Given the description of an element on the screen output the (x, y) to click on. 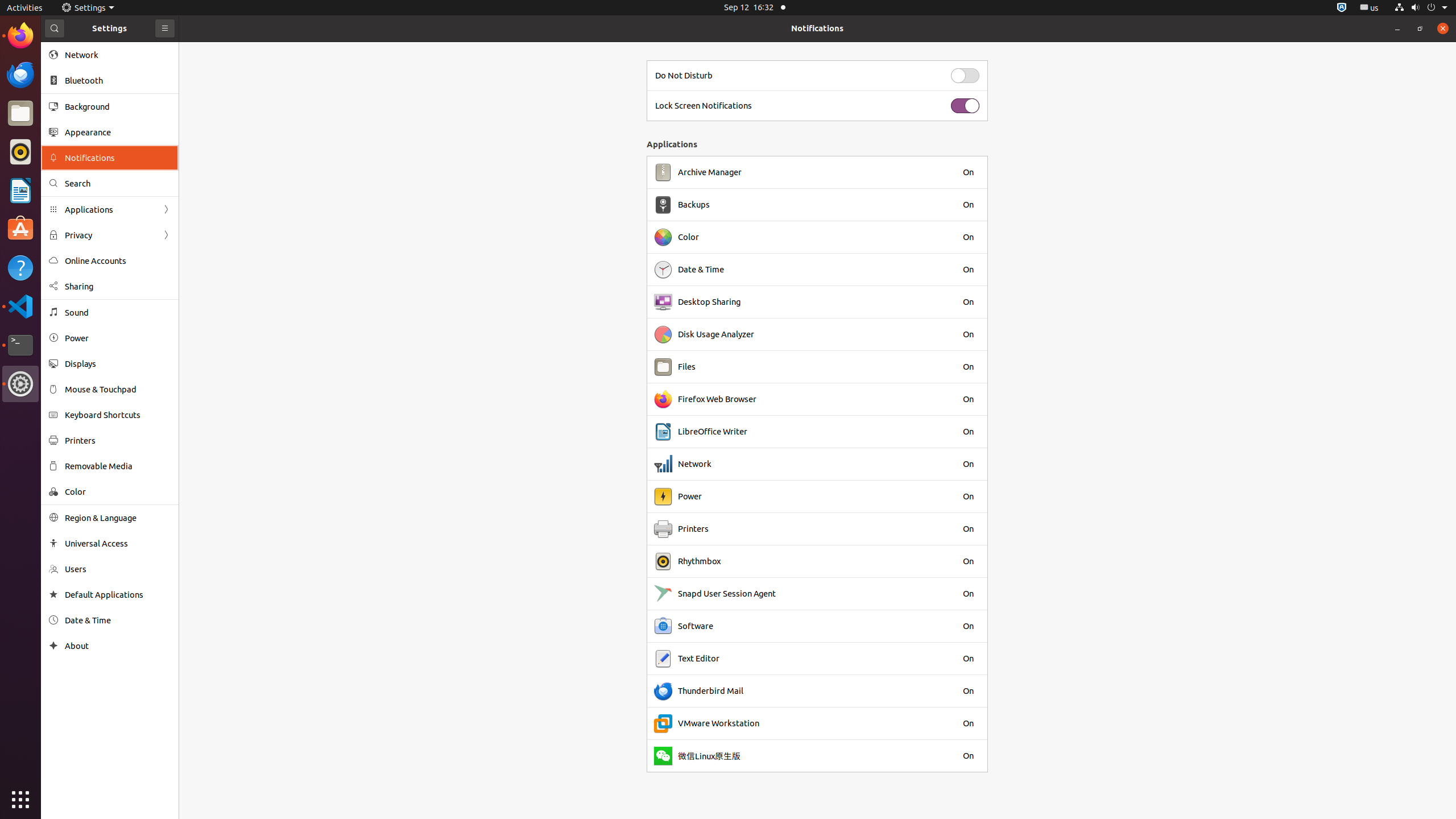
Do Not Disturb Element type: label (683, 75)
Users Element type: label (117, 568)
About Element type: label (117, 645)
